Given the description of an element on the screen output the (x, y) to click on. 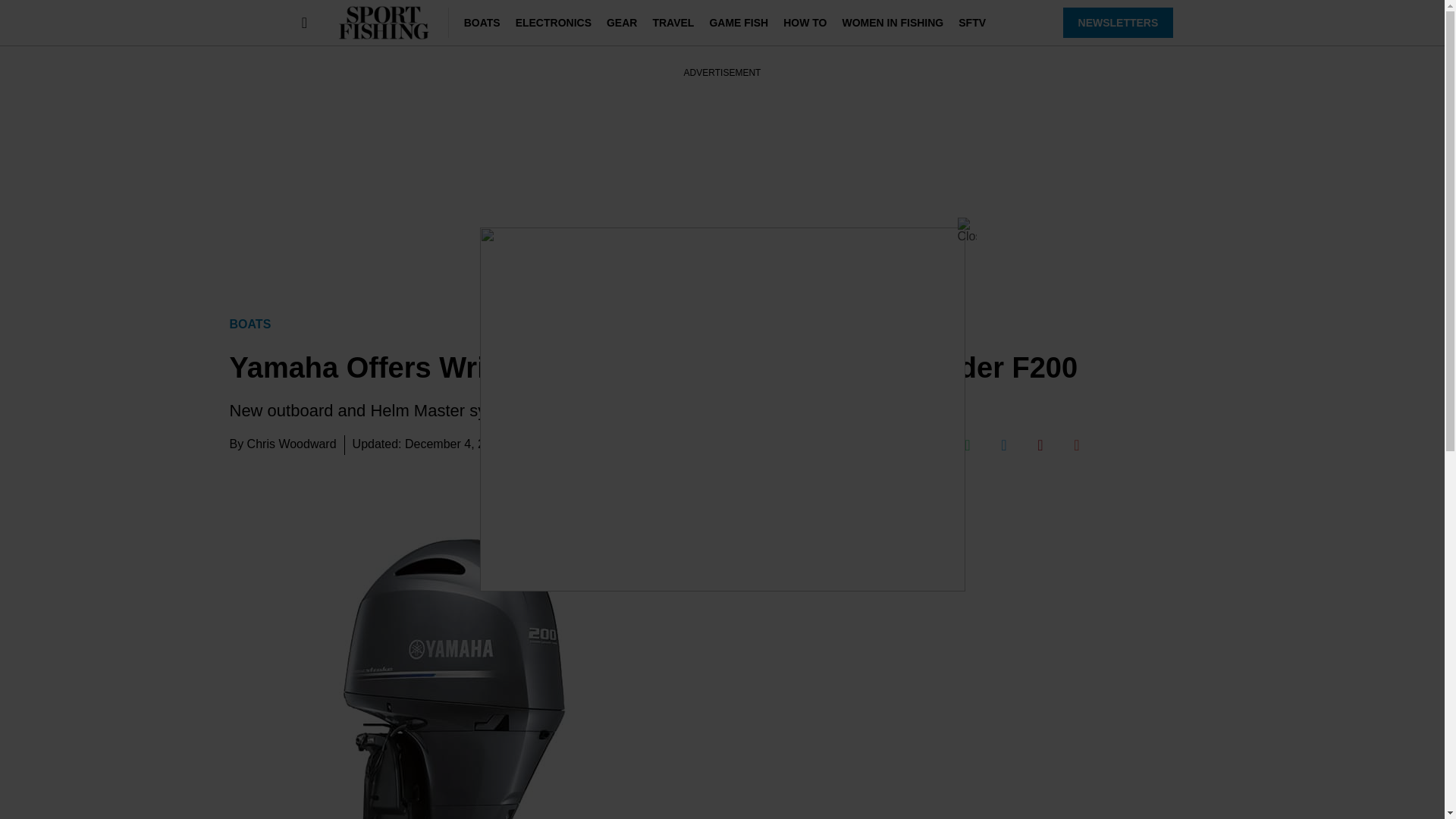
ELECTRONICS (553, 22)
GAME FISH (738, 22)
GEAR (622, 22)
BOATS (482, 22)
TRAVEL (673, 22)
